Given the description of an element on the screen output the (x, y) to click on. 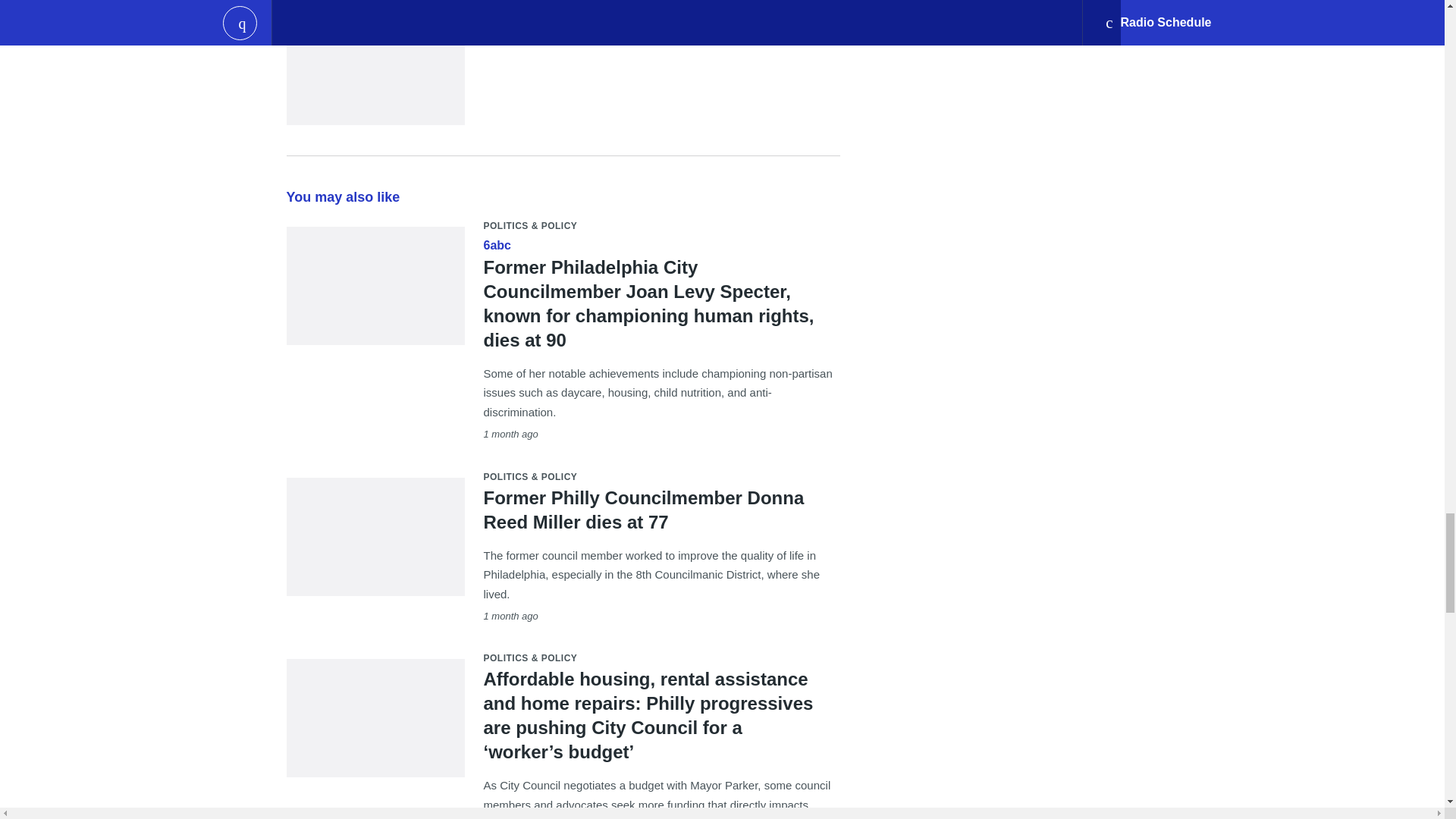
Former Philly Councilmember Donna Reed Miller dies at 77 (375, 566)
Former Philly Councilmember Donna Reed Miller dies at 77 (644, 508)
